Given the description of an element on the screen output the (x, y) to click on. 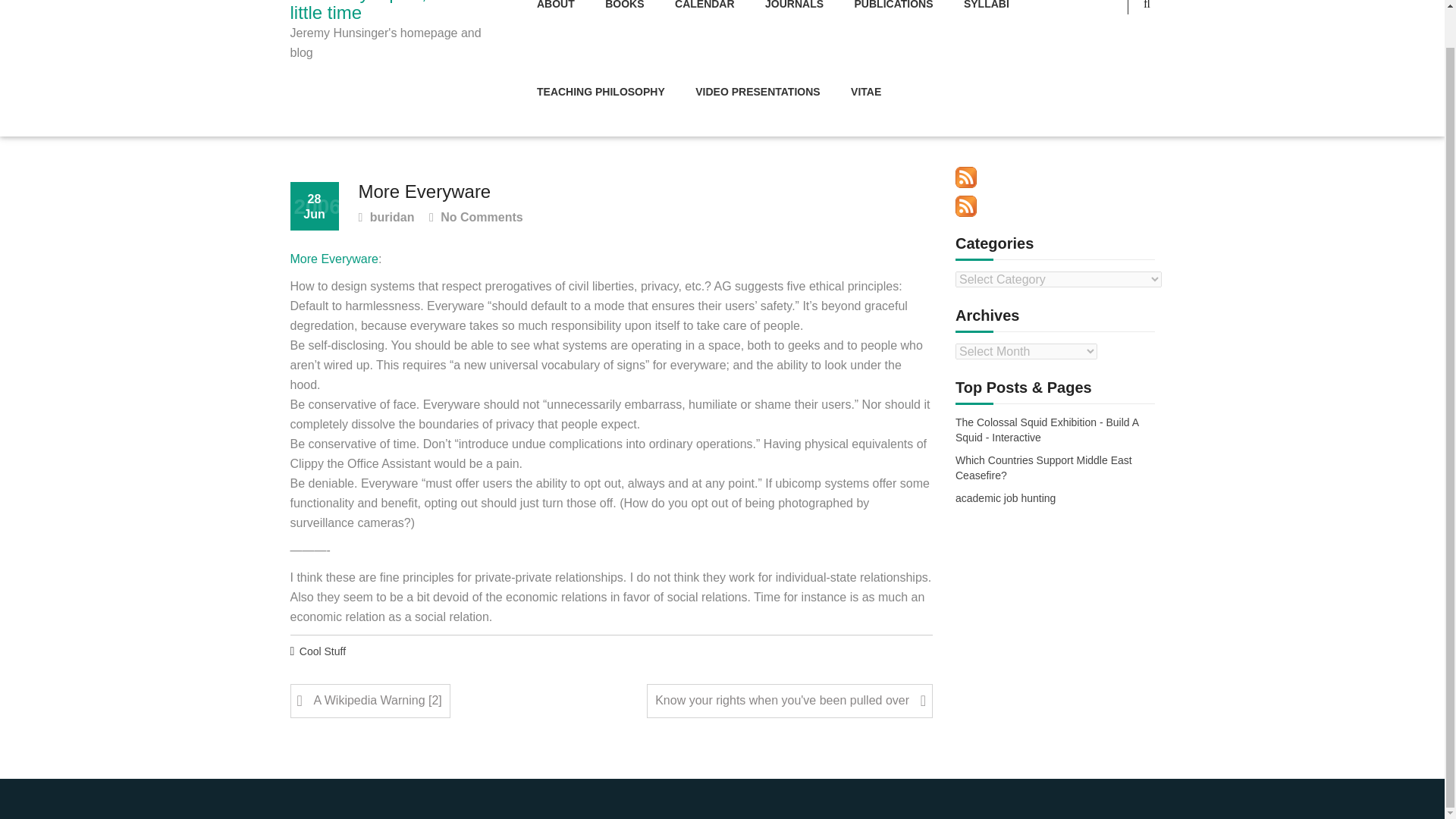
BOOKS (624, 24)
buridan (385, 217)
Too many topics, too little time (389, 11)
More Everyware (333, 259)
Which Countries Support Middle East Ceasefire? (1054, 468)
CALENDAR (704, 24)
No Comments (475, 217)
Subscribe to posts (965, 177)
The Colossal Squid Exhibition - Build A Squid - Interactive (1054, 430)
PUBLICATIONS (894, 24)
JOURNALS (794, 24)
TEACHING PHILOSOPHY (600, 92)
VIDEO PRESENTATIONS (756, 92)
Subscribe to comments (965, 206)
academic job hunting (1005, 498)
